Given the description of an element on the screen output the (x, y) to click on. 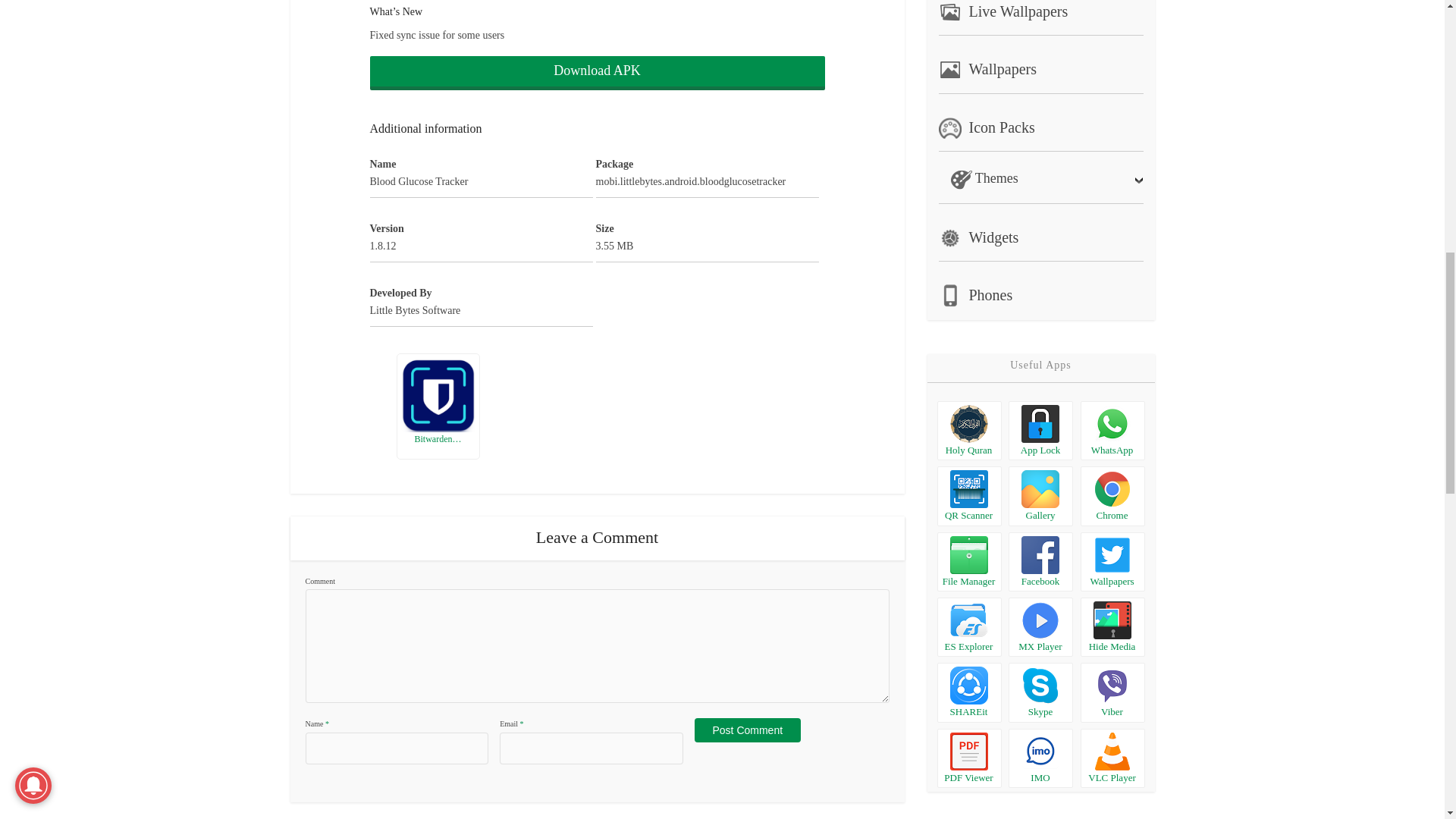
Download APK (597, 72)
Post Comment (747, 730)
Bitwarden Authenticator app (437, 394)
Post Comment (747, 730)
